Given the description of an element on the screen output the (x, y) to click on. 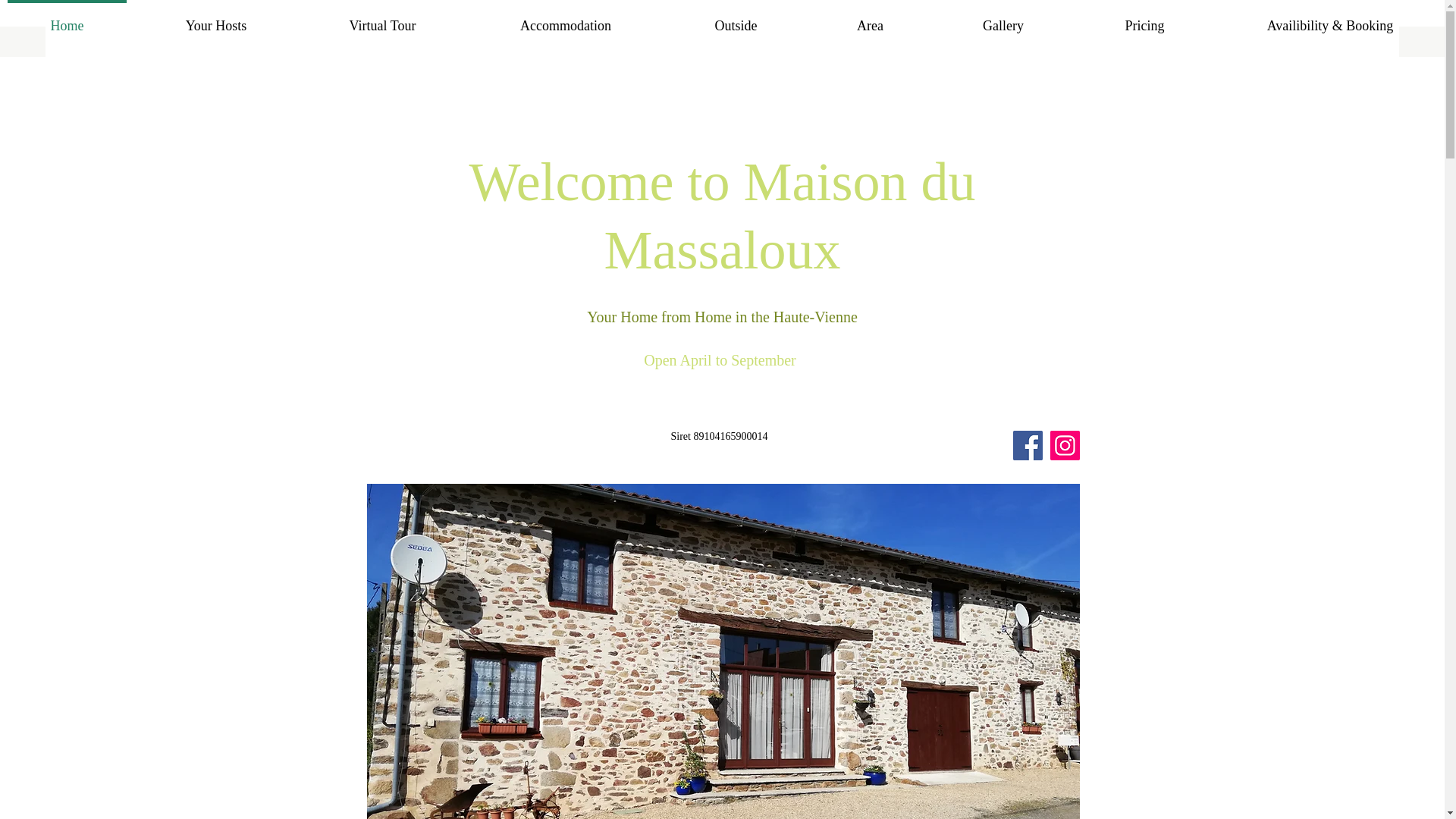
Home (66, 18)
Gallery (1003, 18)
Your Hosts (215, 18)
Area (870, 18)
Virtual Tour (382, 18)
Pricing (1144, 18)
Outside (735, 18)
Accommodation (565, 18)
